Given the description of an element on the screen output the (x, y) to click on. 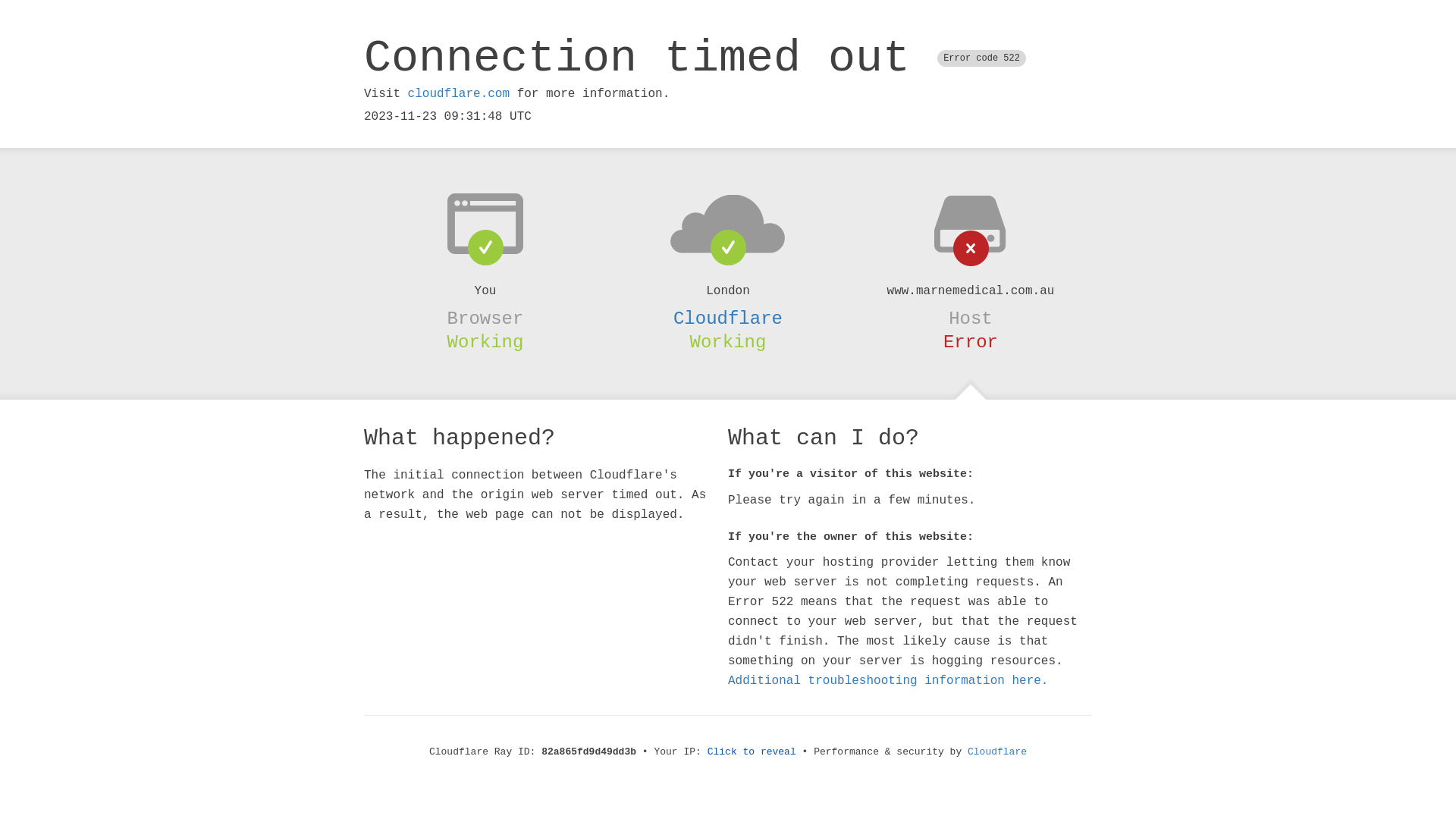
Cloudflare Element type: text (727, 318)
Cloudflare Element type: text (996, 751)
Additional troubleshooting information here. Element type: text (888, 680)
cloudflare.com Element type: text (458, 93)
Click to reveal Element type: text (751, 751)
